Given the description of an element on the screen output the (x, y) to click on. 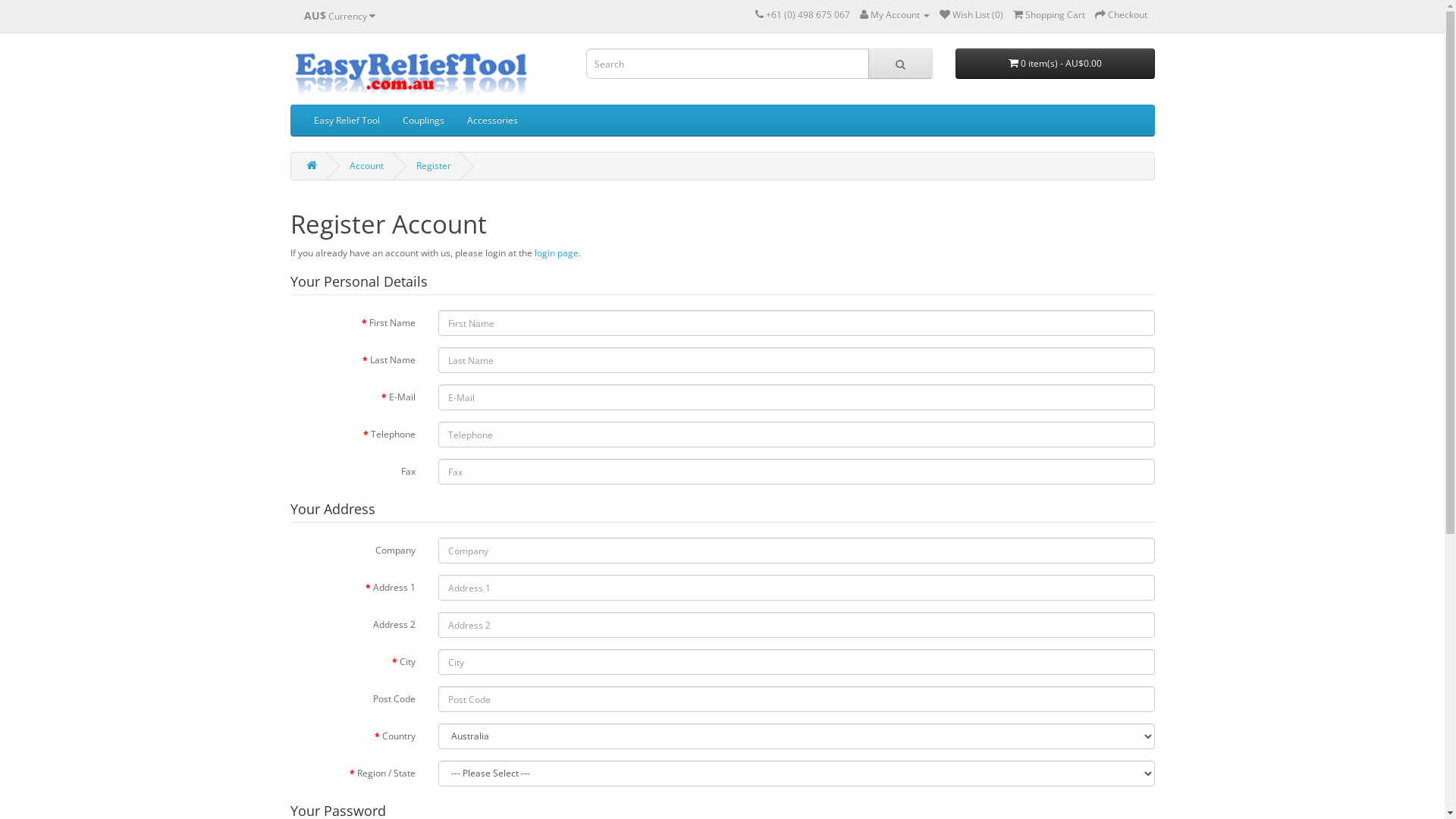
0 item(s) - AU$0.00 Element type: text (1054, 63)
AU$ Currency Element type: text (339, 15)
Wish List (0) Element type: text (970, 14)
Couplings Element type: text (423, 120)
Checkout Element type: text (1121, 14)
Easy Relief Tool Element type: hover (410, 72)
Register Element type: text (432, 165)
Easy Relief Tool Element type: text (345, 120)
login page Element type: text (555, 252)
Account Element type: text (365, 165)
Shopping Cart Element type: text (1049, 14)
My Account Element type: text (894, 14)
Accessories Element type: text (491, 120)
